Given the description of an element on the screen output the (x, y) to click on. 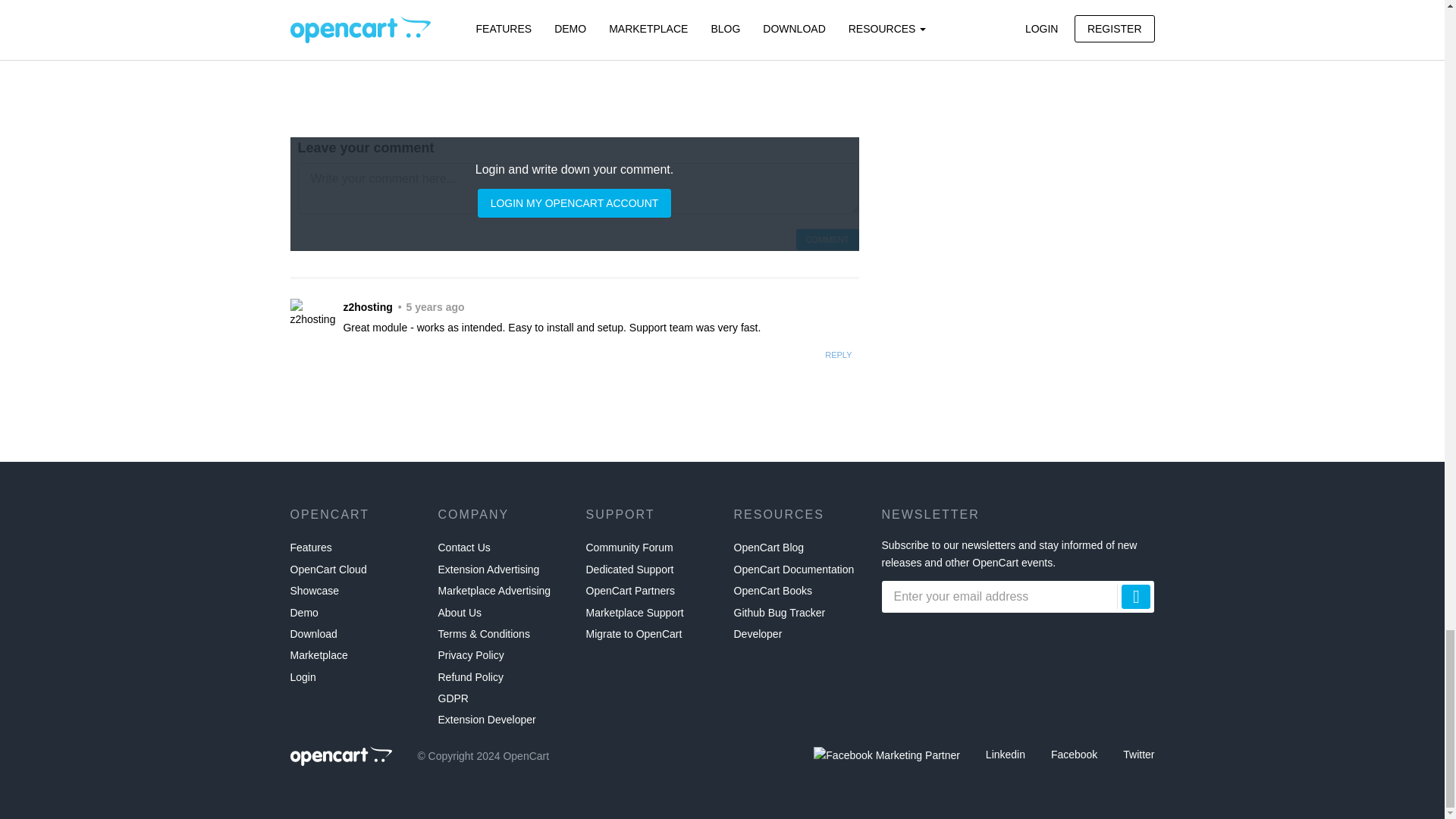
REPLY (838, 355)
z2hosting (311, 312)
Facebook Marketing Partner (886, 754)
OpenCart (340, 755)
COMMENT (827, 239)
LOGIN MY OPENCART ACCOUNT (574, 203)
